Given the description of an element on the screen output the (x, y) to click on. 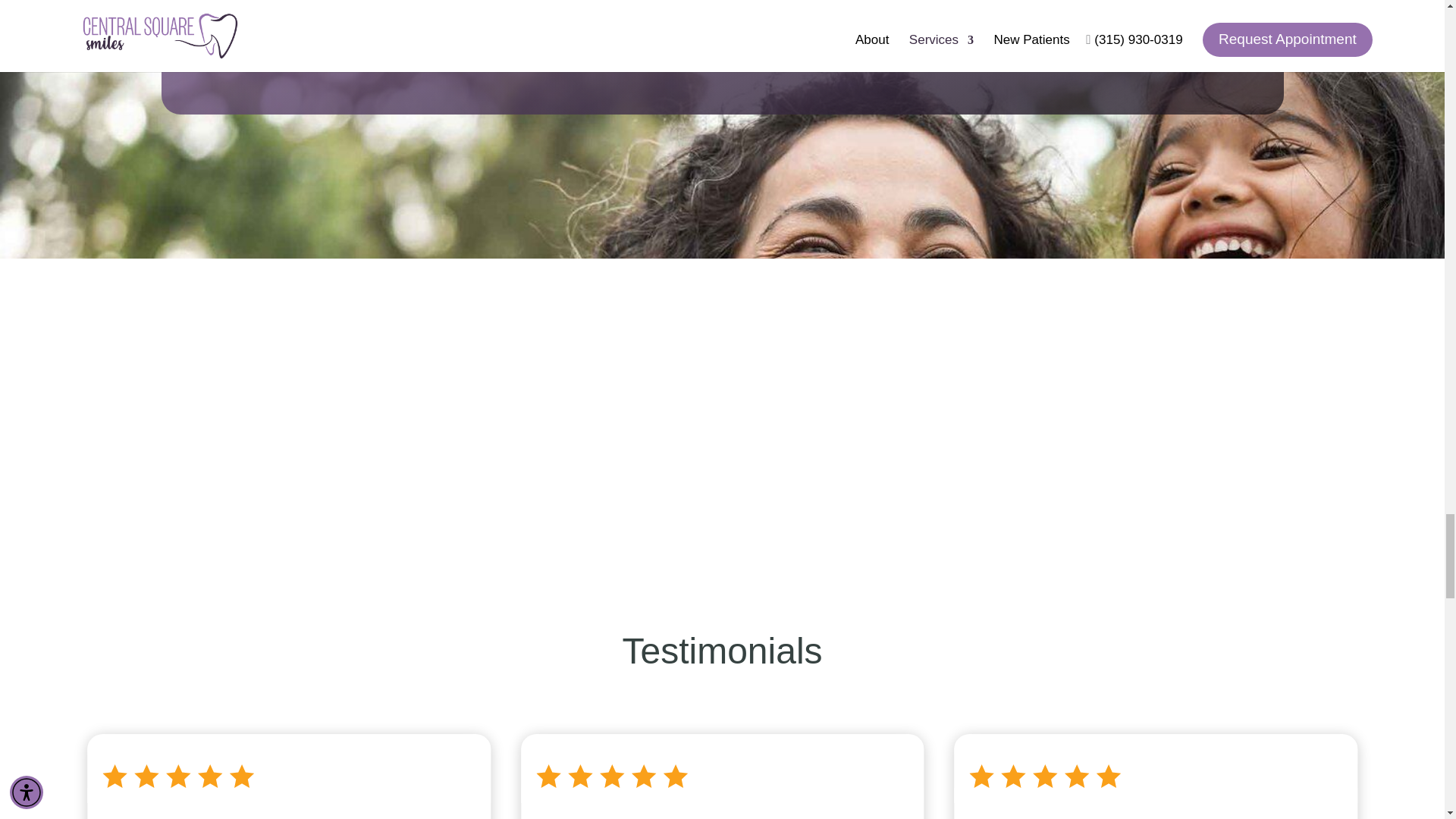
Learn More (722, 39)
